Given the description of an element on the screen output the (x, y) to click on. 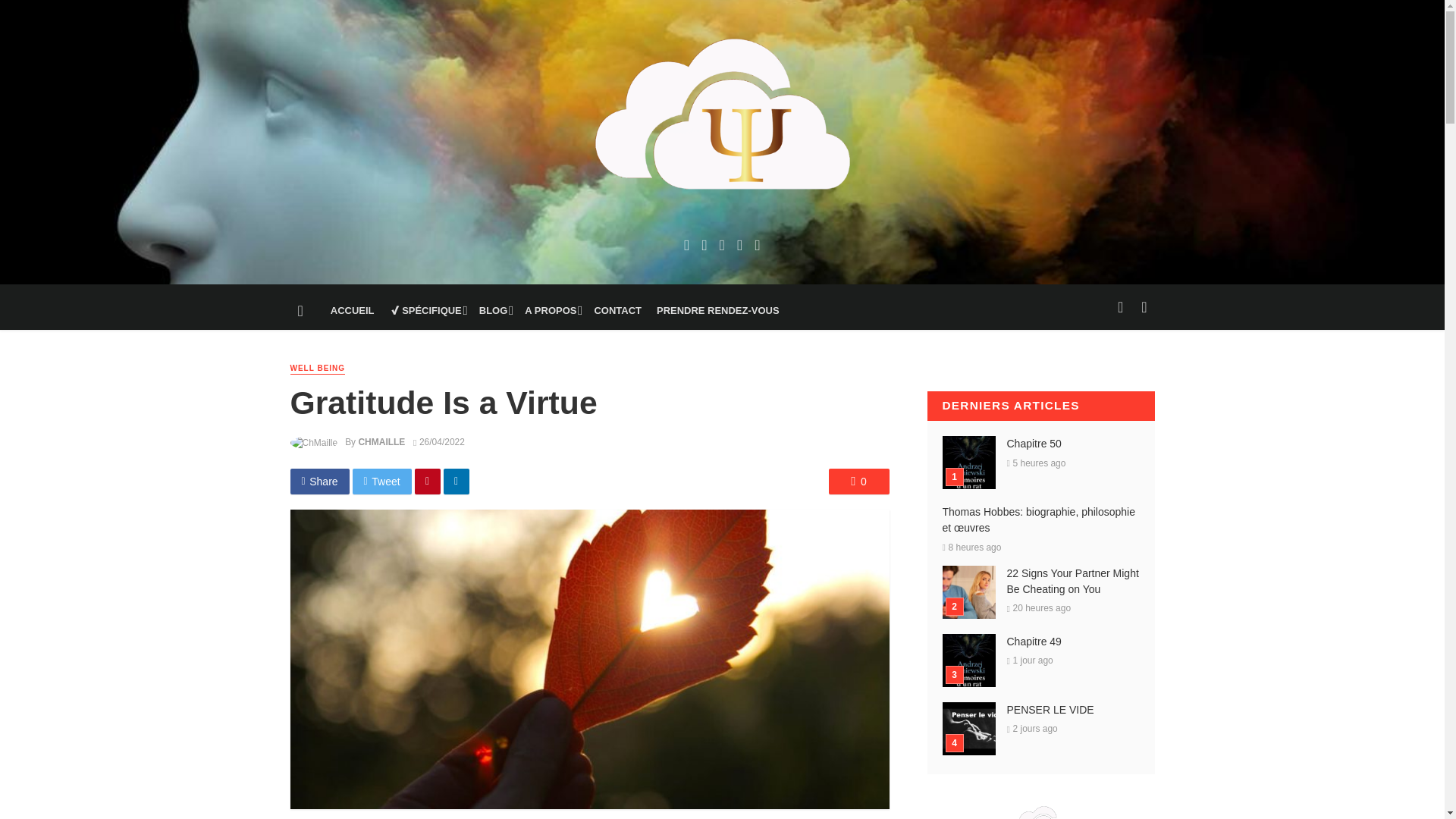
avril 26, 2022 at 5:48 pm (438, 441)
WELL BEING (317, 368)
CONTACT (617, 310)
PRENDRE RENDEZ-VOUS (718, 310)
BLOG (494, 310)
Share (319, 481)
ACCUEIL (352, 310)
Tweet (382, 481)
CHMAILLE (381, 441)
A PROPOS (551, 310)
Posts by ChMaille (381, 441)
